Given the description of an element on the screen output the (x, y) to click on. 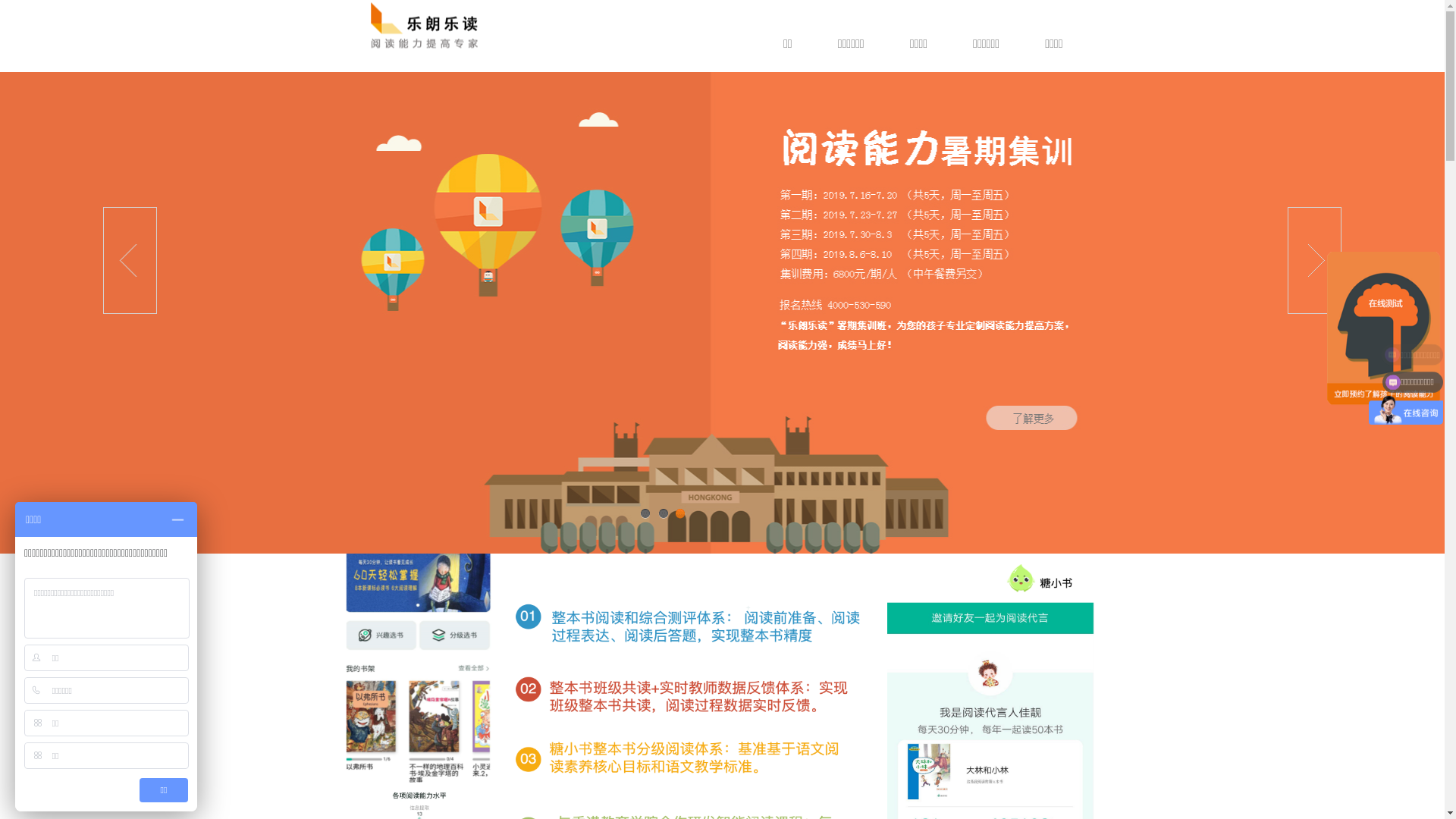
3 Element type: text (680, 513)
1 Element type: text (644, 513)
2 Element type: text (662, 513)
